Given the description of an element on the screen output the (x, y) to click on. 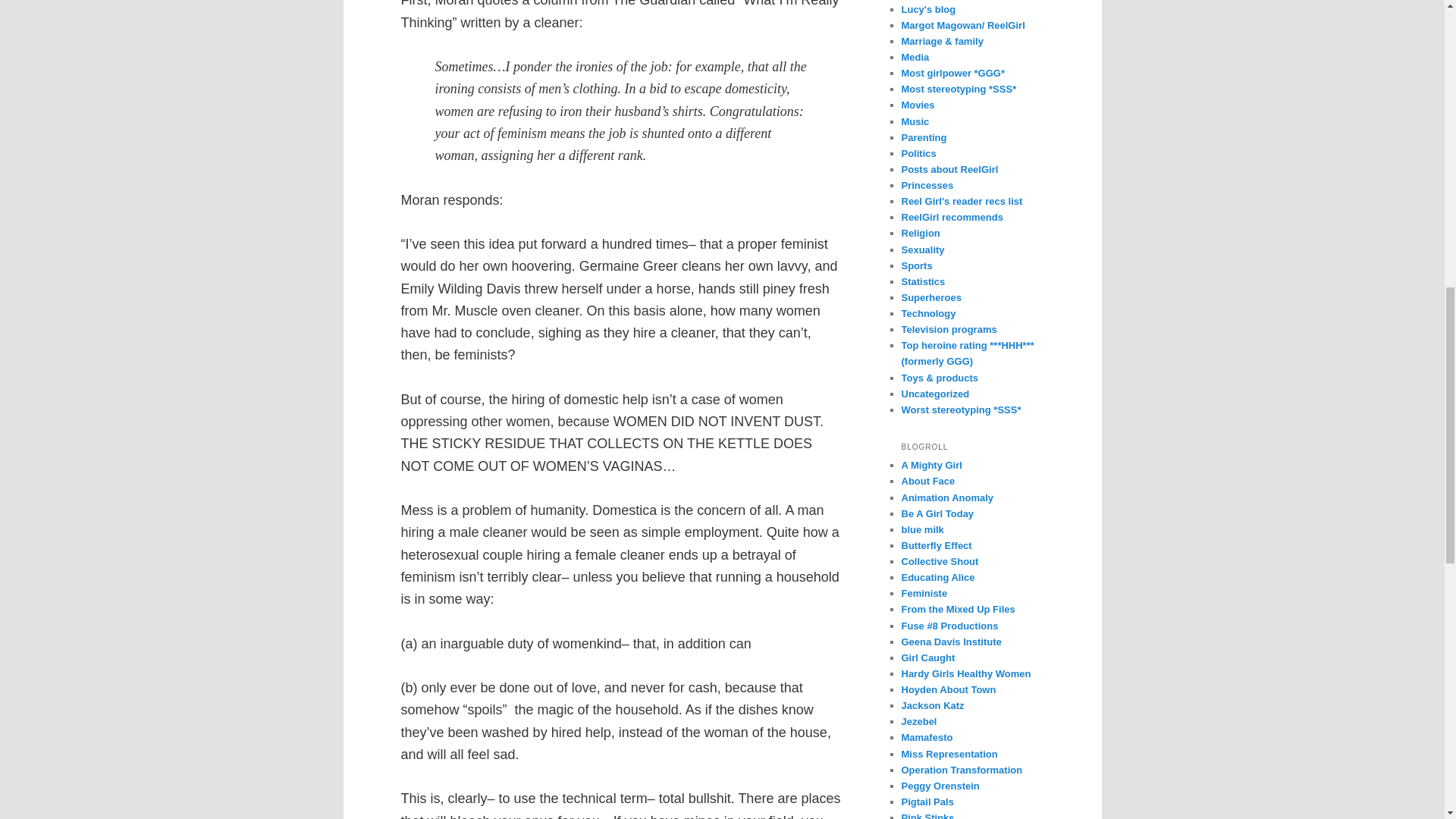
Media (914, 57)
Lucy's blog (928, 9)
Movies (917, 104)
